Given the description of an element on the screen output the (x, y) to click on. 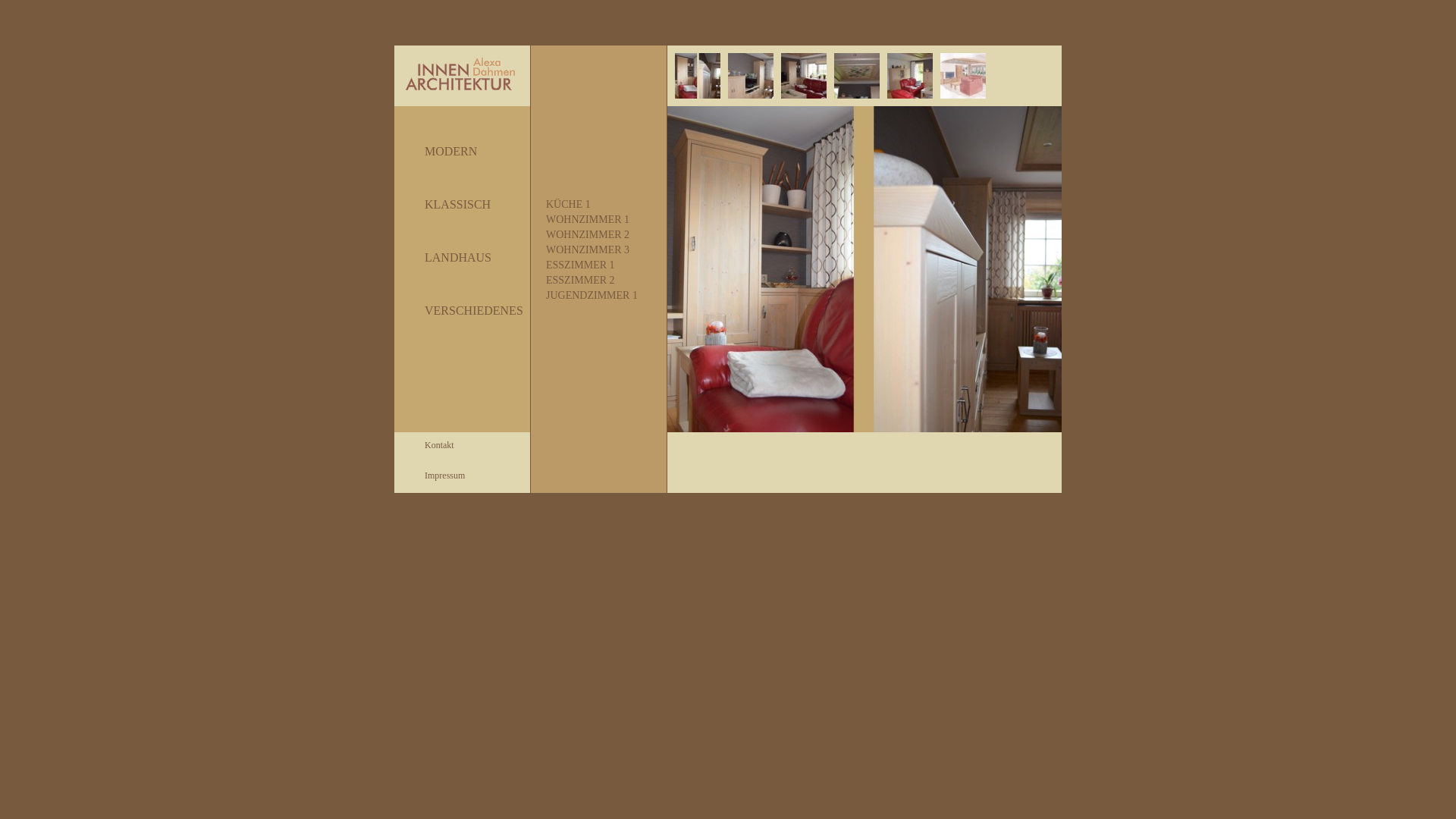
WOHNZIMMER 2 Element type: text (598, 234)
KLASSISCH Element type: text (462, 204)
Kontakt Element type: text (454, 445)
ESSZIMMER 1 Element type: text (598, 265)
Impressum Element type: text (454, 475)
JUGENDZIMMER 1 Element type: text (598, 295)
WOHNZIMMER 3 Element type: text (598, 249)
WOHNZIMMER 1 Element type: text (598, 219)
MODERN Element type: text (462, 151)
VERSCHIEDENES Element type: text (462, 310)
LANDHAUS Element type: text (462, 257)
ESSZIMMER 2 Element type: text (598, 280)
